Given the description of an element on the screen output the (x, y) to click on. 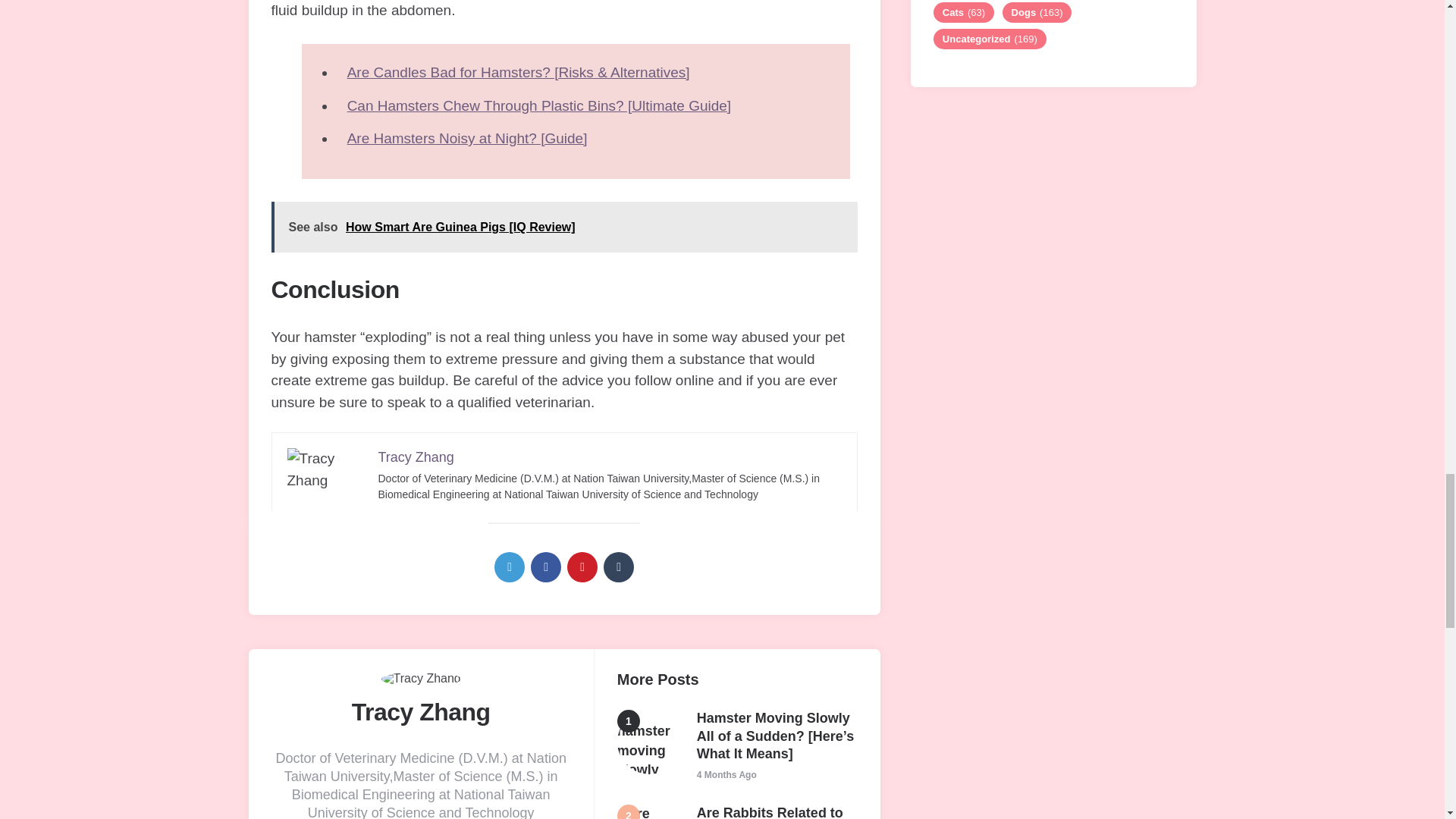
Tracy Zhang (414, 457)
